Given the description of an element on the screen output the (x, y) to click on. 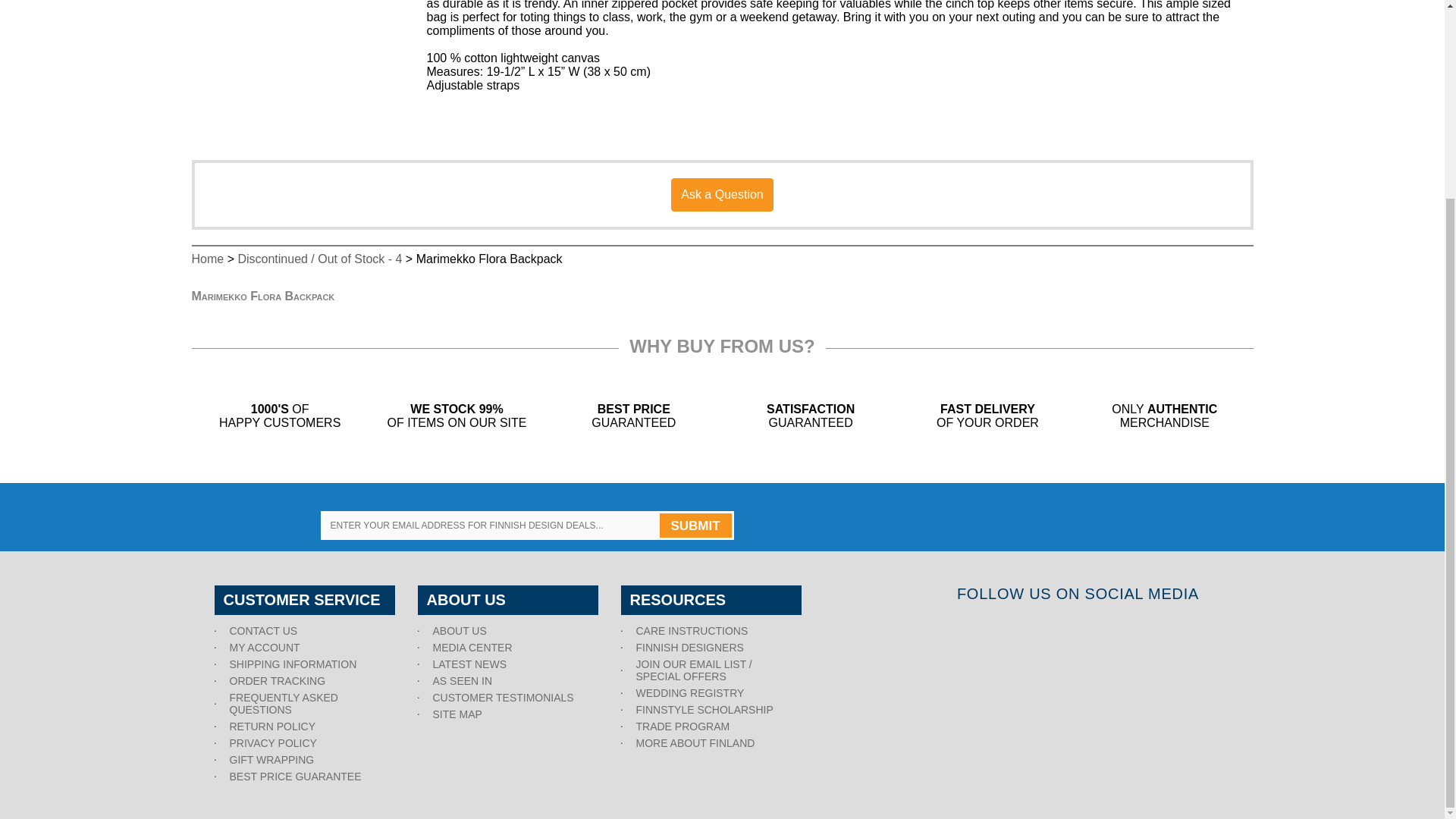
SUBMIT (695, 525)
